Given the description of an element on the screen output the (x, y) to click on. 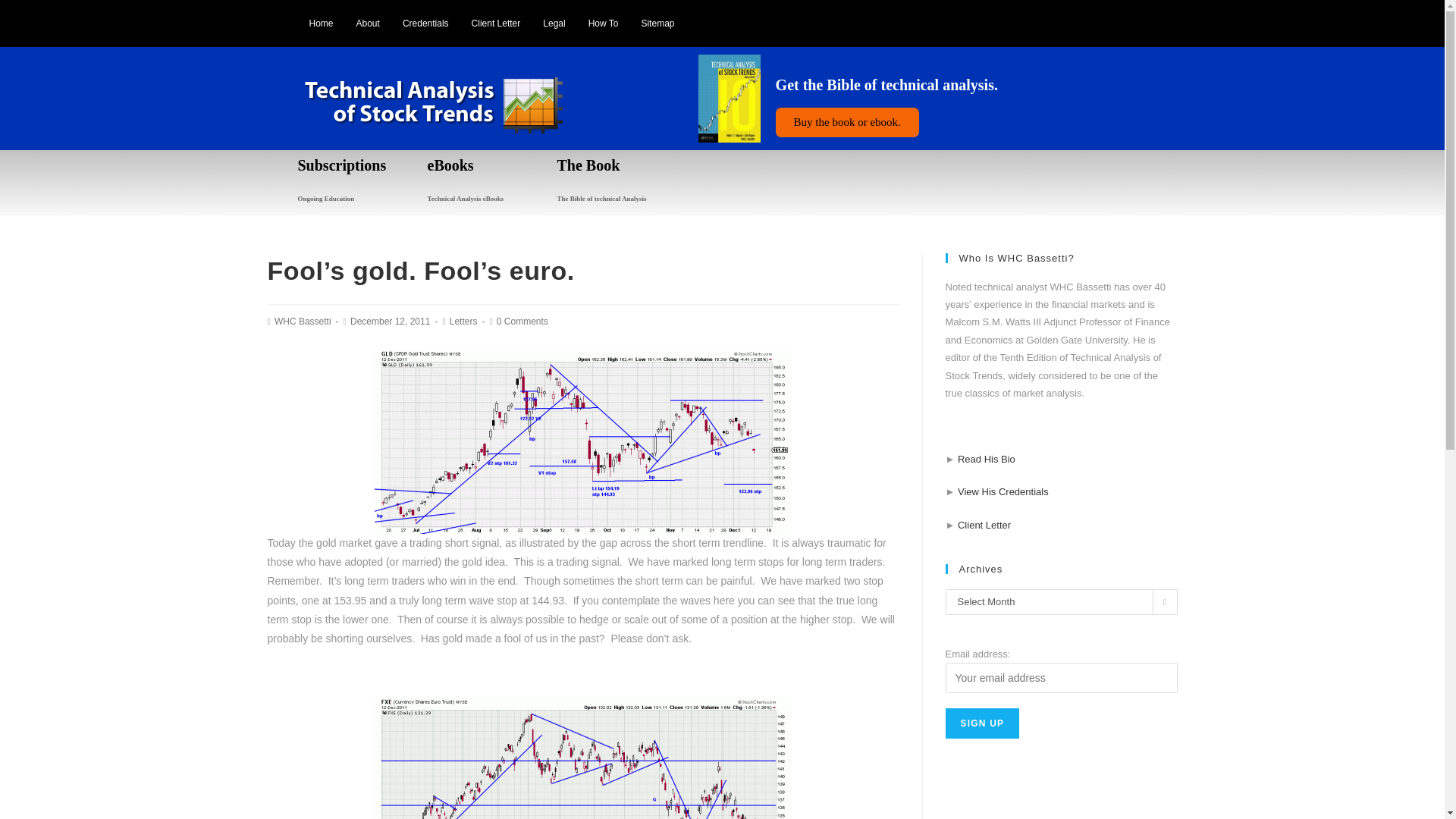
WHC Bassetti (303, 321)
Home (320, 23)
Read His Bio (986, 459)
How To (603, 23)
Ongoing Education (325, 198)
The Bible of technical Analysis (601, 198)
Client Letter (496, 23)
Sign up (981, 723)
About (368, 23)
Subscriptions (341, 165)
Letters (463, 321)
1212fxe (583, 758)
Get the Bible of technical analysis. (886, 84)
0 Comments (522, 321)
Legal (553, 23)
